Given the description of an element on the screen output the (x, y) to click on. 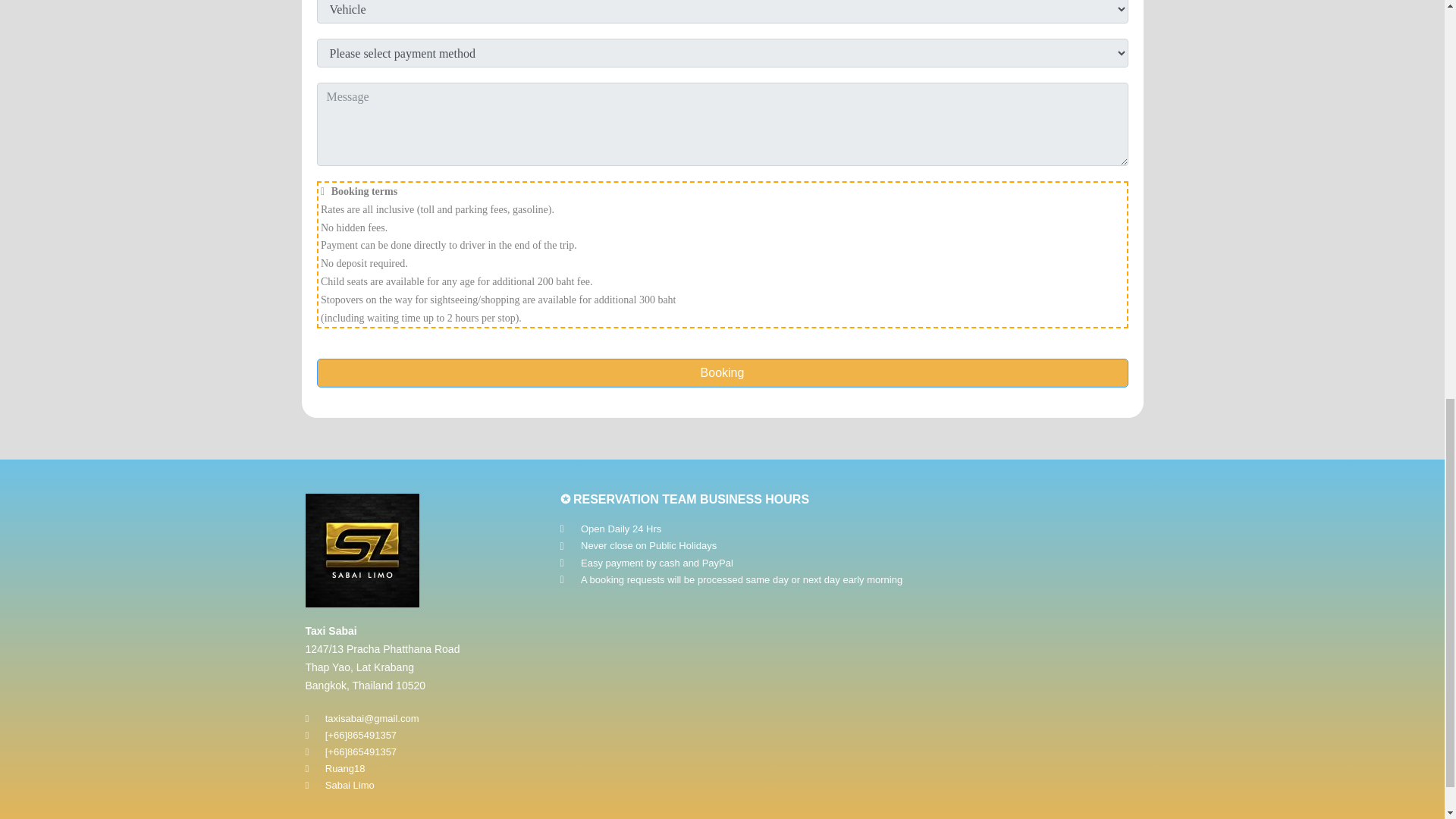
Ruang18 (424, 768)
Booking (722, 372)
Sabai Limo (424, 785)
